Given the description of an element on the screen output the (x, y) to click on. 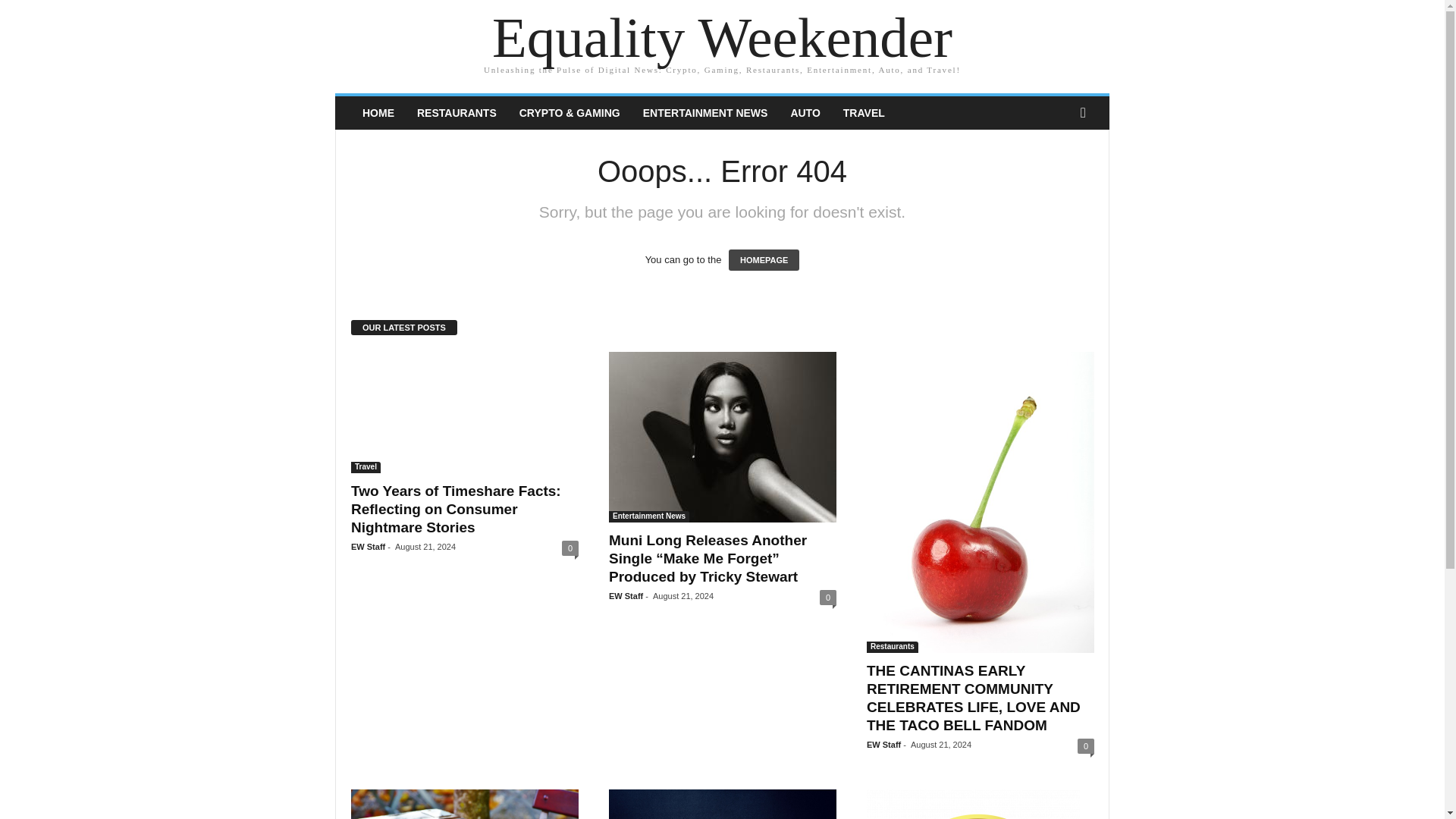
Equality Weekender (721, 38)
Travel (365, 467)
AUTO (804, 112)
EW Staff (625, 595)
EW Staff (367, 546)
